Given the description of an element on the screen output the (x, y) to click on. 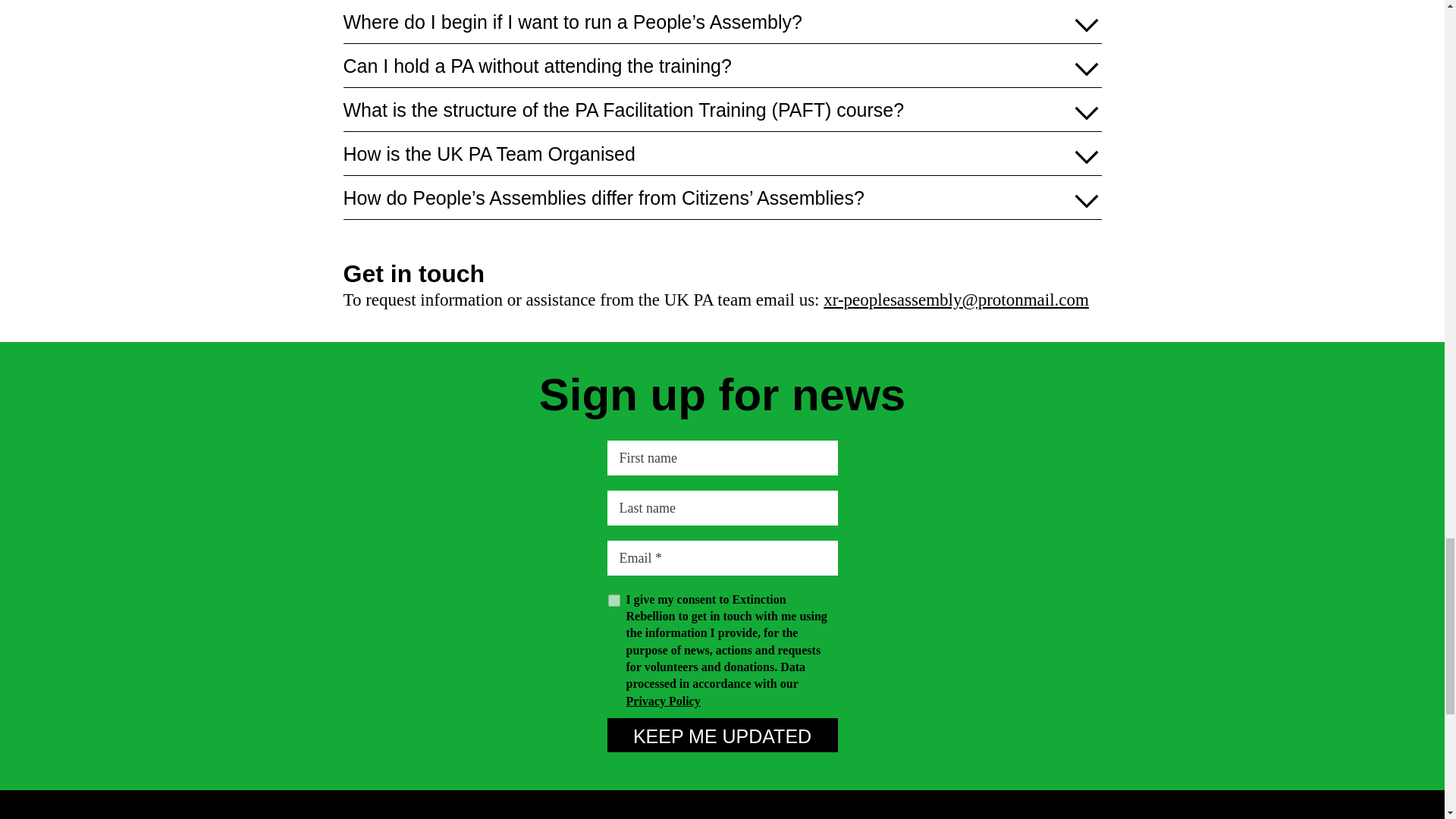
Keep me updated (722, 735)
Yes (614, 600)
